Given the description of an element on the screen output the (x, y) to click on. 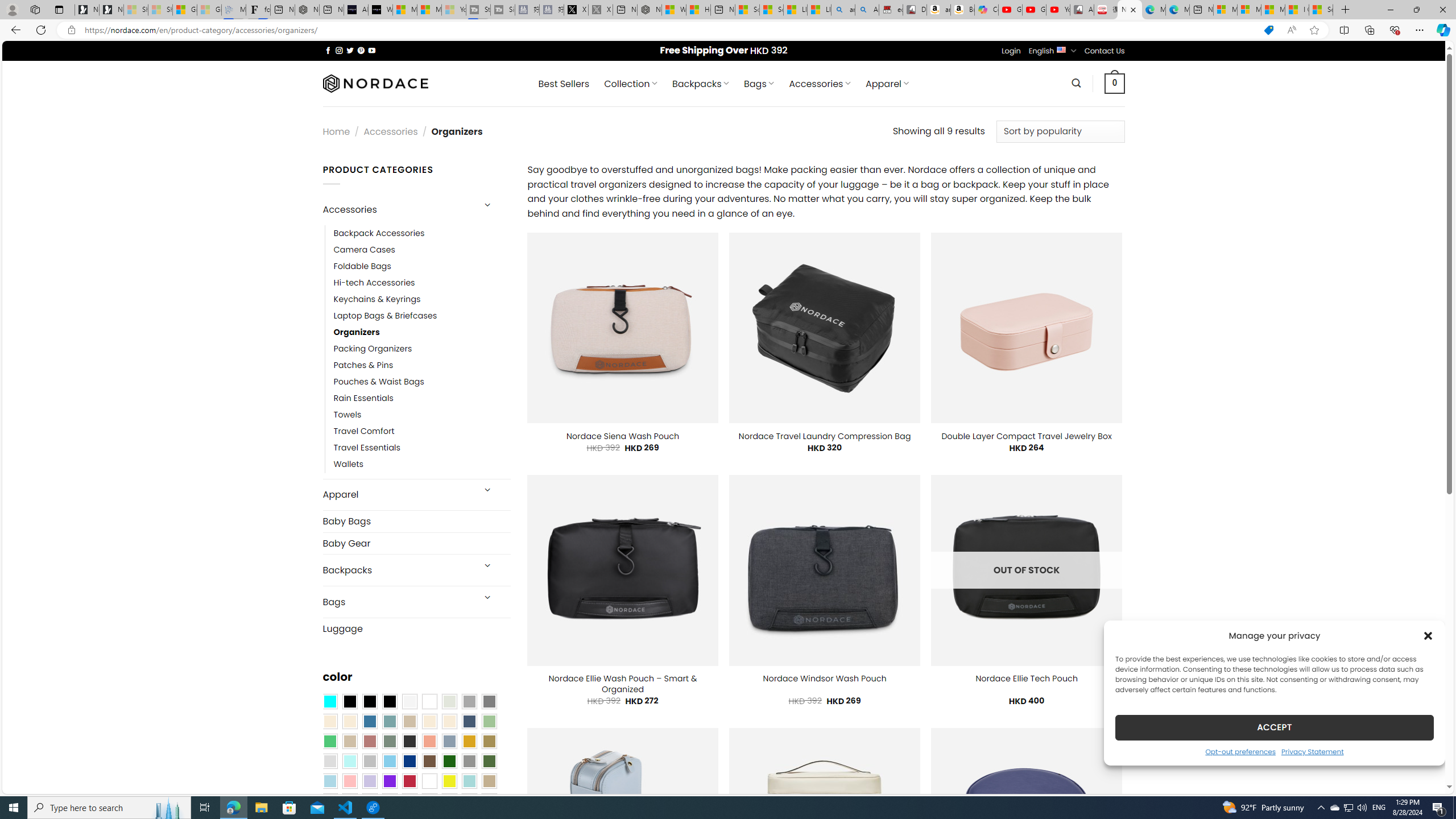
This site has coupons! Shopping in Microsoft Edge (1268, 29)
Split screen (1344, 29)
Travel Comfort (422, 431)
Backpack Accessories (422, 232)
Patches & Pins (363, 365)
Contact Us (1104, 50)
Baby Bags (416, 521)
All Cubot phones (1082, 9)
Minimize (1390, 9)
Mint (349, 761)
Restore (1416, 9)
amazon - Search (843, 9)
Back (13, 29)
Camera Cases (422, 248)
